Given the description of an element on the screen output the (x, y) to click on. 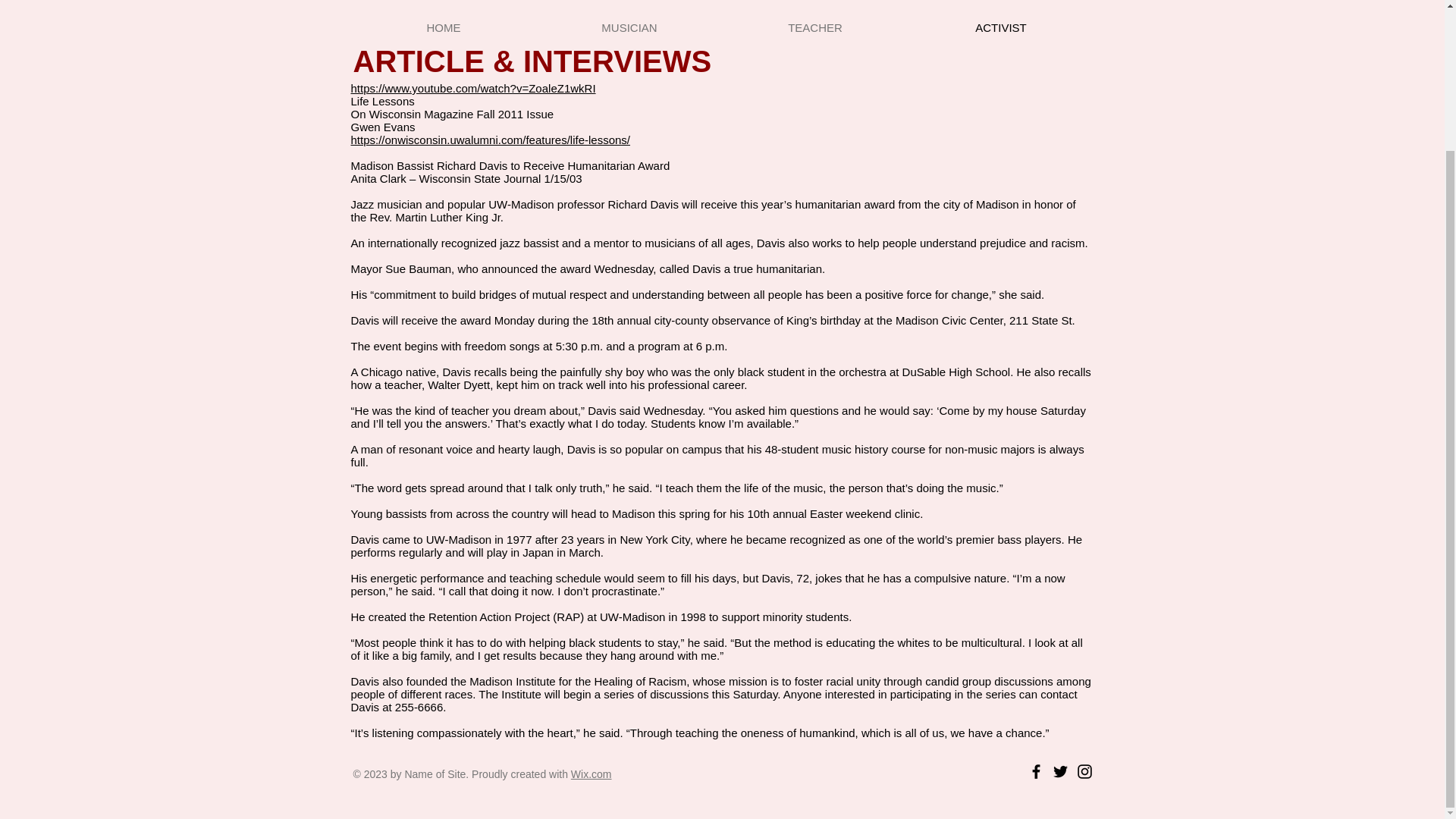
MUSICIAN (629, 27)
TEACHER (814, 27)
Wix.com (590, 774)
HOME (442, 27)
ACTIVIST (1001, 27)
